Given the description of an element on the screen output the (x, y) to click on. 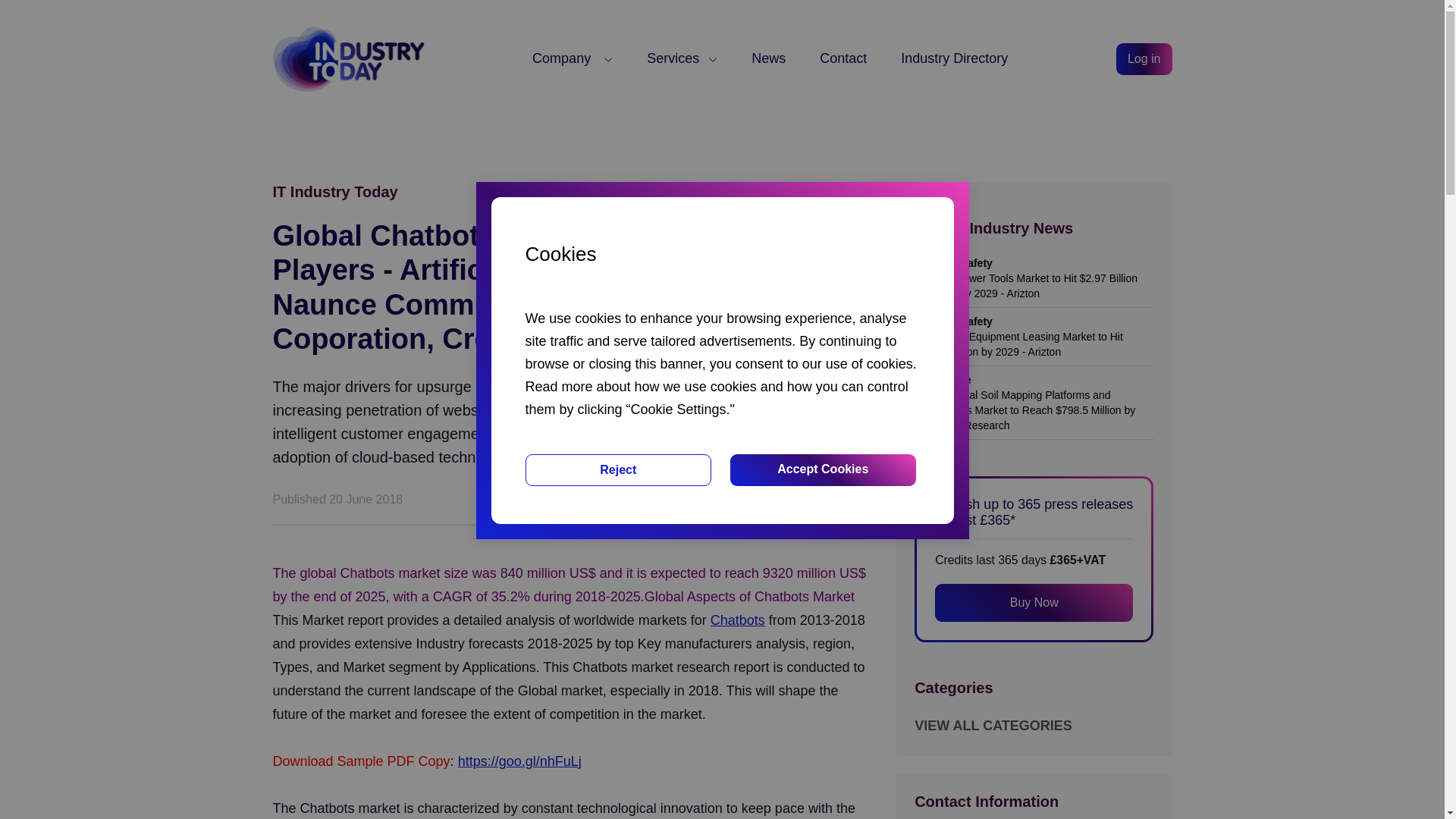
Log in (1144, 59)
VIEW ALL CATEGORIES (992, 725)
News (768, 57)
Buy Now (1033, 602)
Industry Directory (954, 57)
Company (572, 57)
Services (681, 57)
Chatbots (737, 620)
Contact (842, 57)
